Given the description of an element on the screen output the (x, y) to click on. 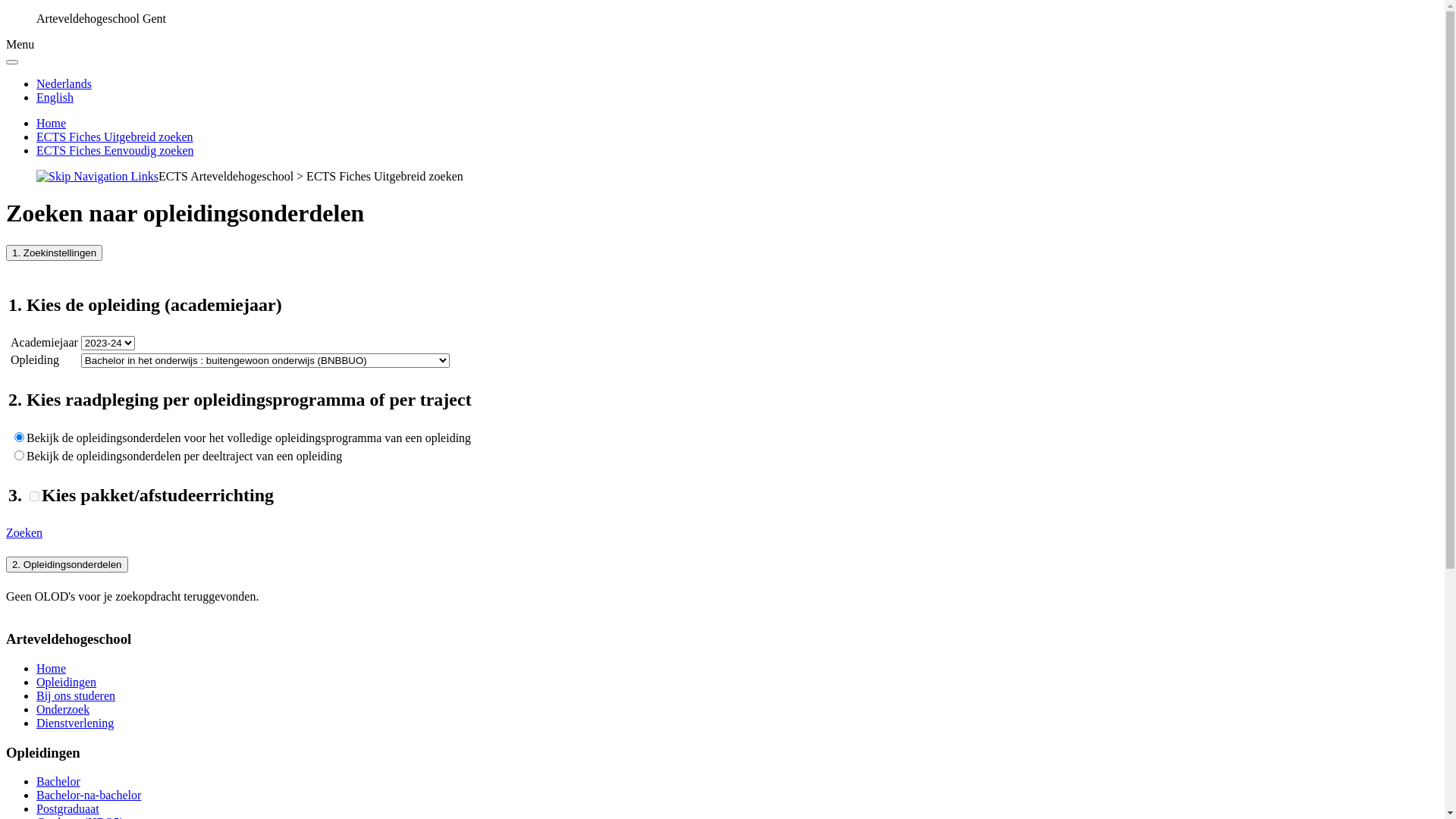
ECTS Arteveldehogeschool Element type: text (225, 175)
Zoeken Element type: text (24, 532)
on Element type: text (34, 496)
2. Opleidingsonderdelen Element type: text (67, 564)
Nederlands Element type: text (63, 83)
1 Element type: text (19, 455)
Bij ons studeren Element type: text (75, 695)
1. Zoekinstellingen Element type: text (54, 252)
ECTS Fiches Uitgebreid zoeken Element type: text (114, 136)
Opleidingen Element type: text (66, 681)
Home Element type: text (50, 122)
Onderzoek Element type: text (62, 708)
Postgraduaat Element type: text (67, 808)
Dienstverlening Element type: text (74, 722)
English Element type: text (54, 97)
Home Element type: text (50, 668)
Bachelor Element type: text (58, 781)
Bachelor-na-bachelor Element type: text (88, 794)
ECTS Fiches Eenvoudig zoeken Element type: text (115, 150)
